Given the description of an element on the screen output the (x, y) to click on. 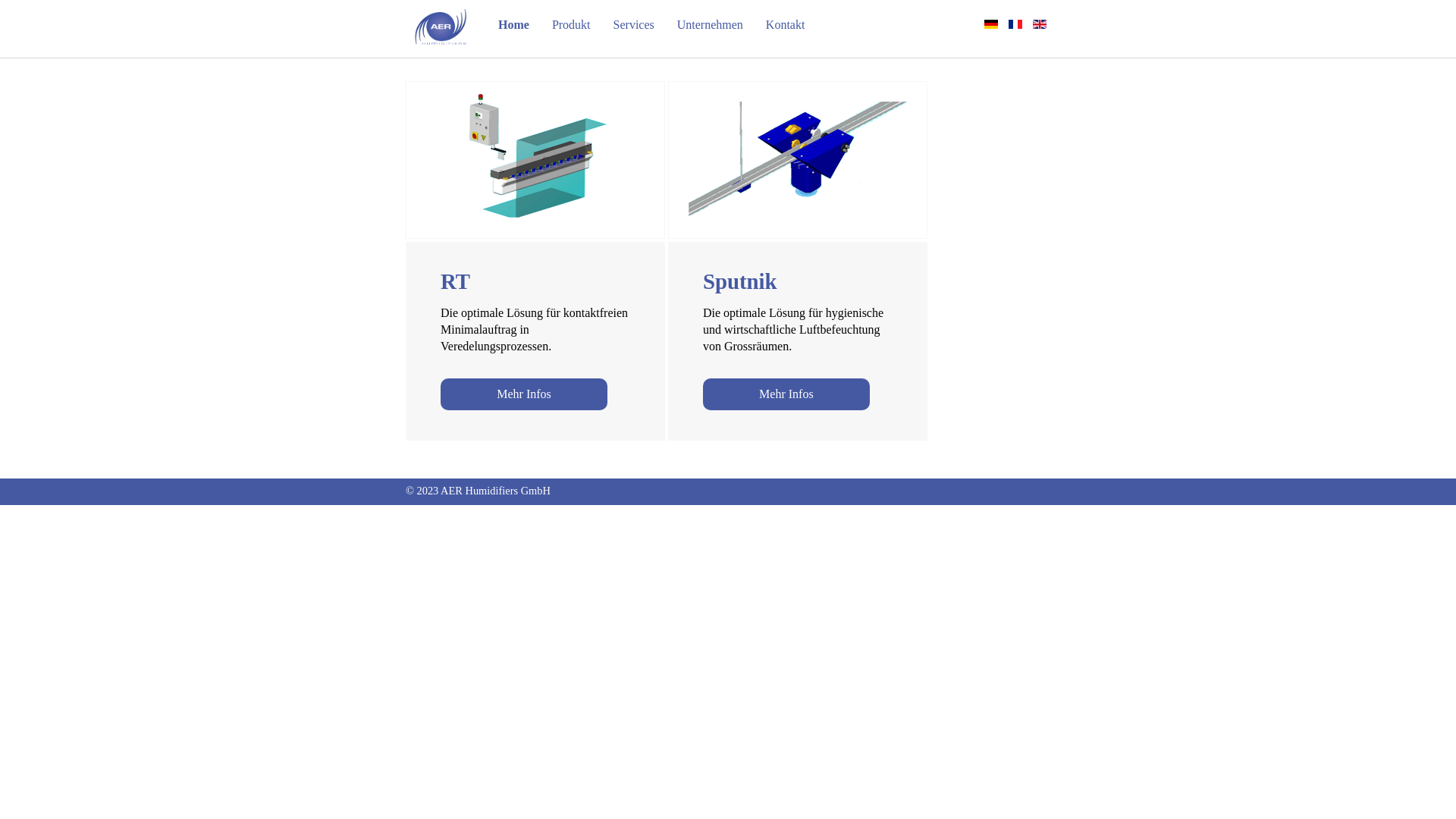
Sputnik Element type: hover (798, 157)
RT Element type: hover (535, 157)
Deutsch (Deutschland) Element type: hover (990, 23)
English (United Kingdom) Element type: hover (1039, 23)
Unternehmen Element type: text (710, 24)
Produkt Element type: text (571, 24)
Kontakt Element type: text (785, 24)
Services Element type: text (633, 24)
Home Element type: text (513, 24)
Mehr Infos Element type: text (523, 394)
Mehr Infos Element type: text (785, 394)
AER Humidifiers Element type: hover (440, 26)
